Given the description of an element on the screen output the (x, y) to click on. 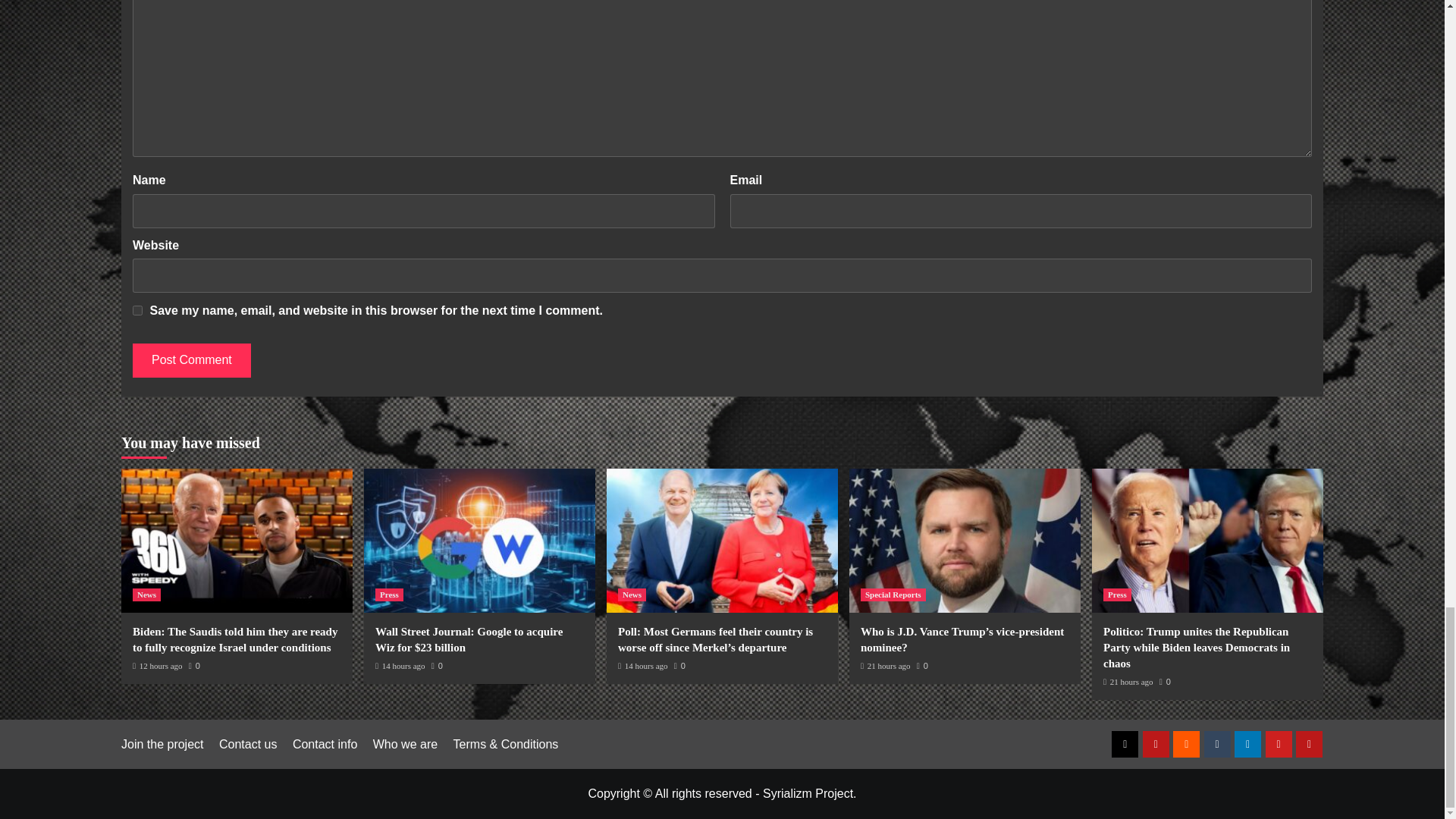
yes (137, 310)
Post Comment (191, 360)
